Given the description of an element on the screen output the (x, y) to click on. 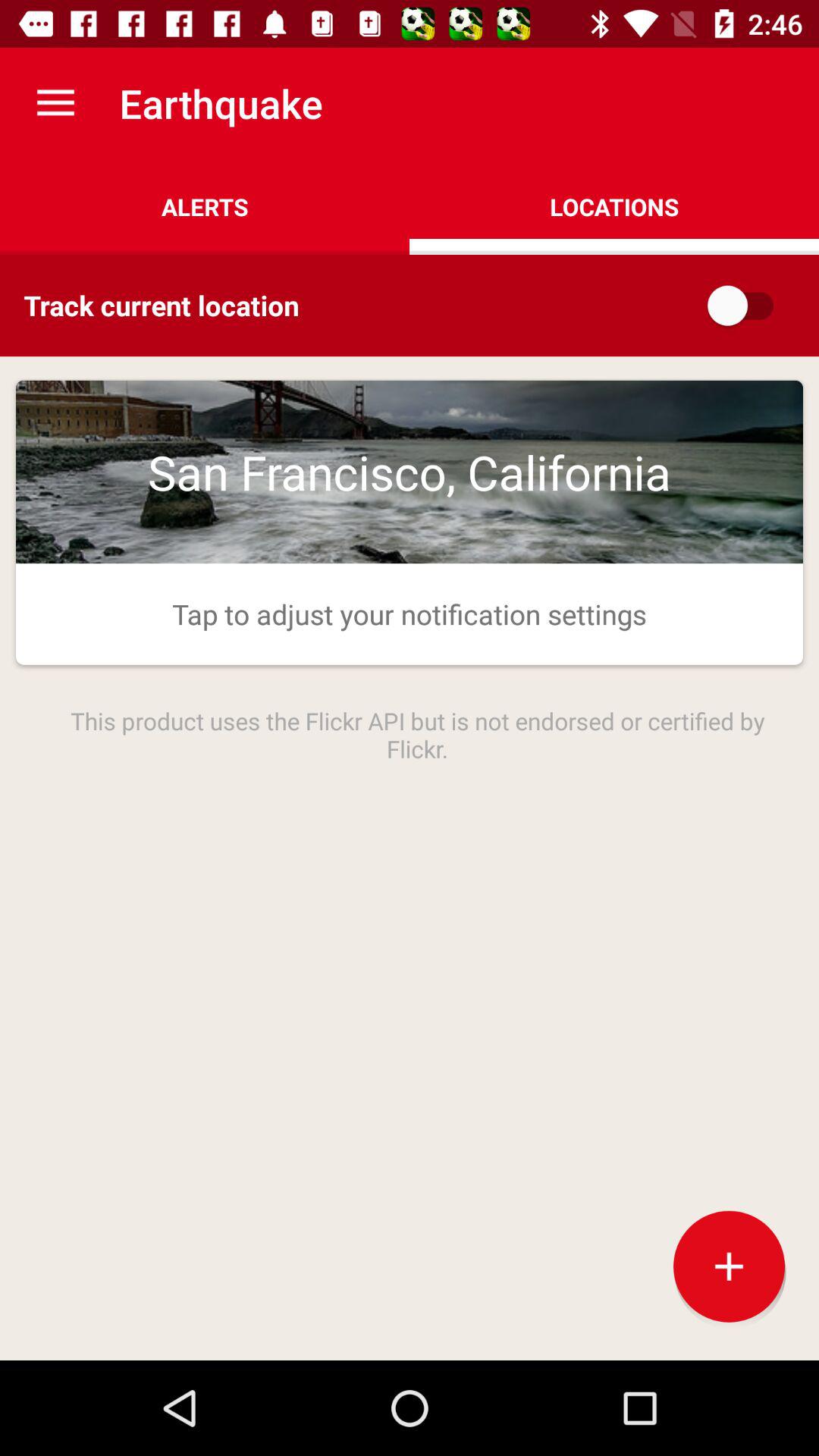
click the item above the track current location (204, 206)
